Given the description of an element on the screen output the (x, y) to click on. 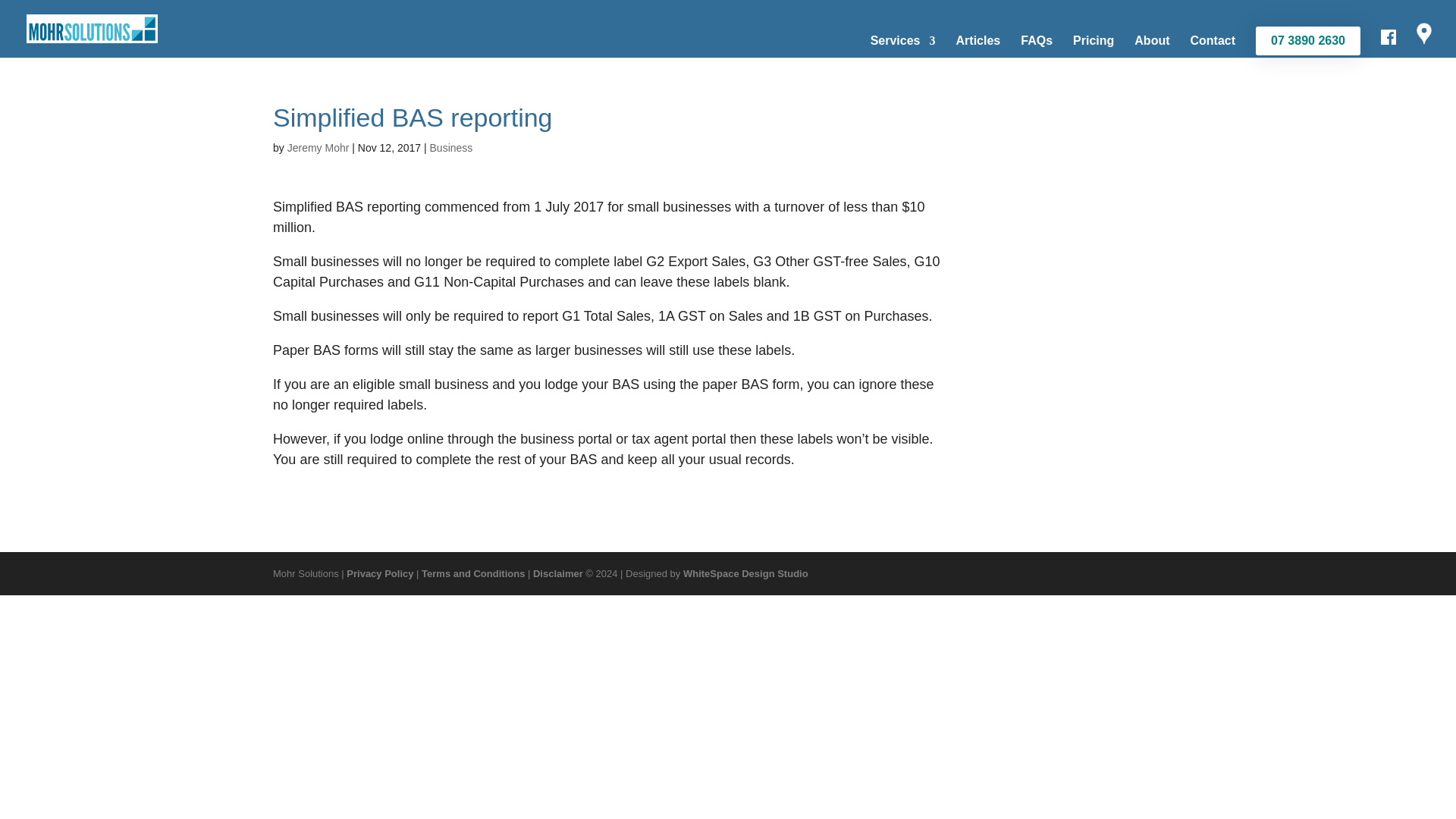
Contact (1213, 46)
Privacy Policy (379, 573)
Business (451, 147)
Pricing (1093, 46)
Articles (978, 46)
Jeremy Mohr (317, 147)
Services (903, 46)
Disclaimer (557, 573)
FAQs (1036, 46)
Terms and Conditions (473, 573)
